Given the description of an element on the screen output the (x, y) to click on. 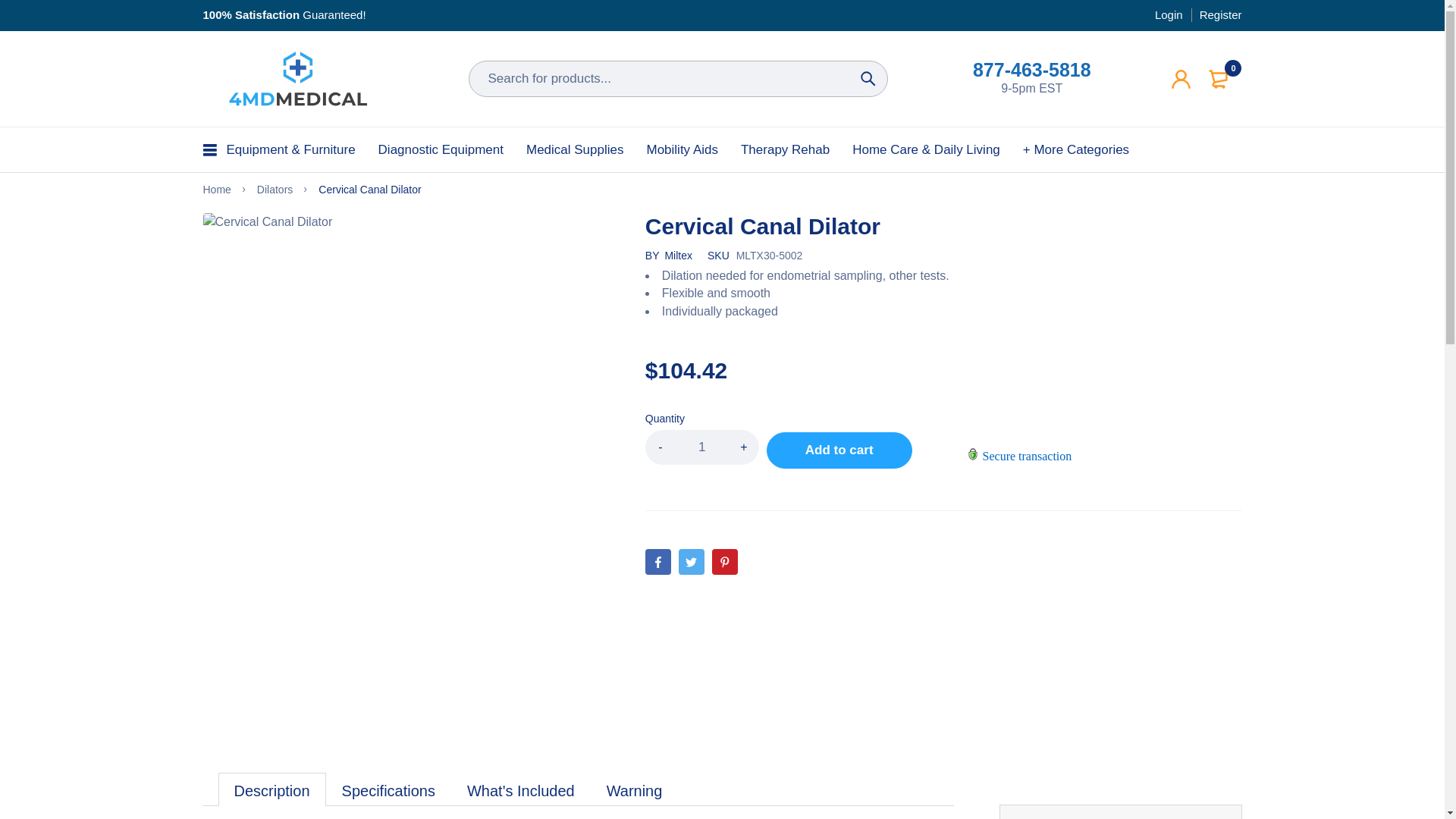
Register (1218, 15)
Pinterest (724, 561)
Facebook (658, 561)
Login (1170, 15)
1 (701, 447)
Twitter (691, 561)
Diagnostic Equipment (440, 149)
4MD Medical (298, 78)
0 (1220, 78)
